Given the description of an element on the screen output the (x, y) to click on. 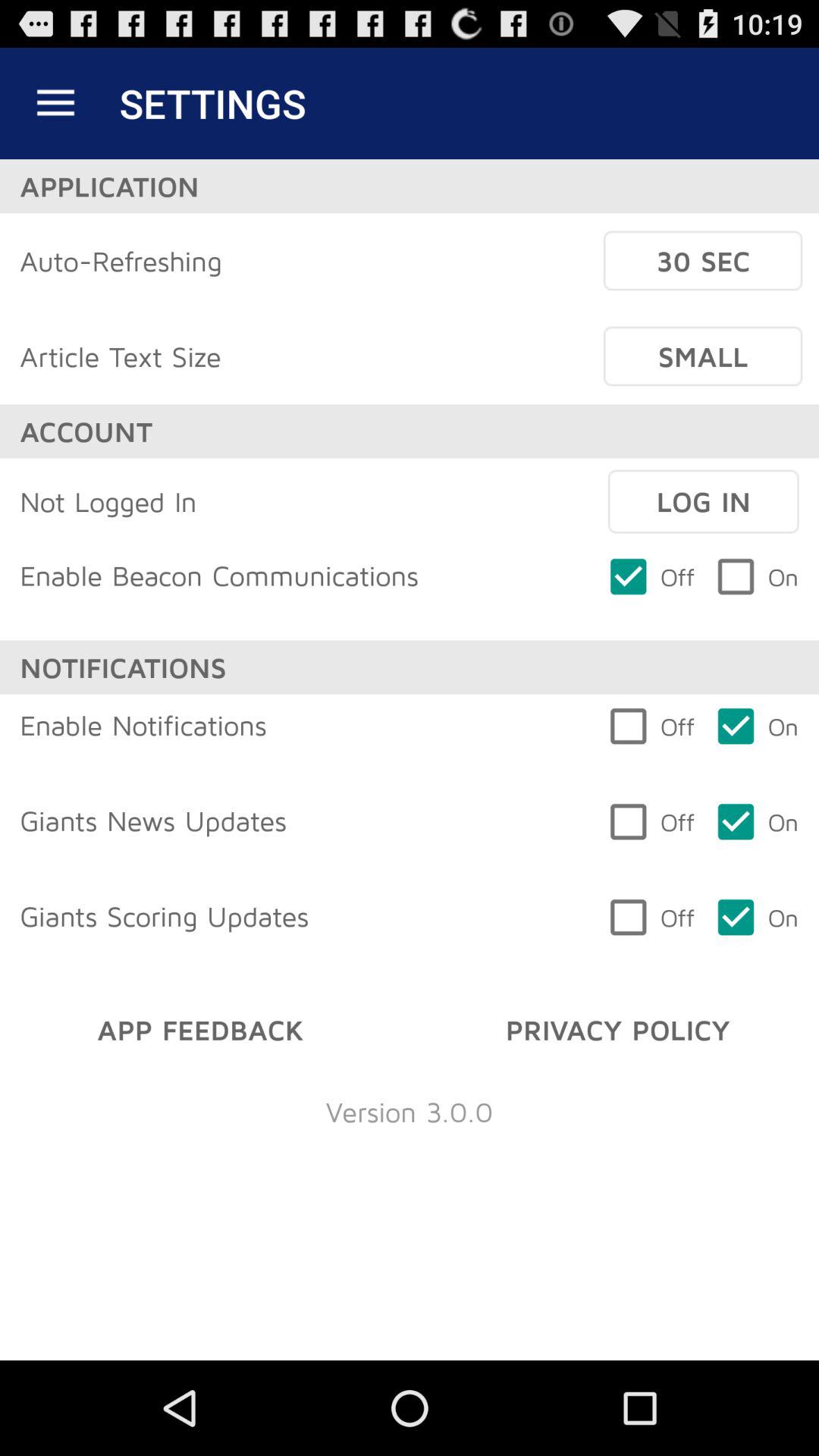
tap item next to settings icon (55, 103)
